Given the description of an element on the screen output the (x, y) to click on. 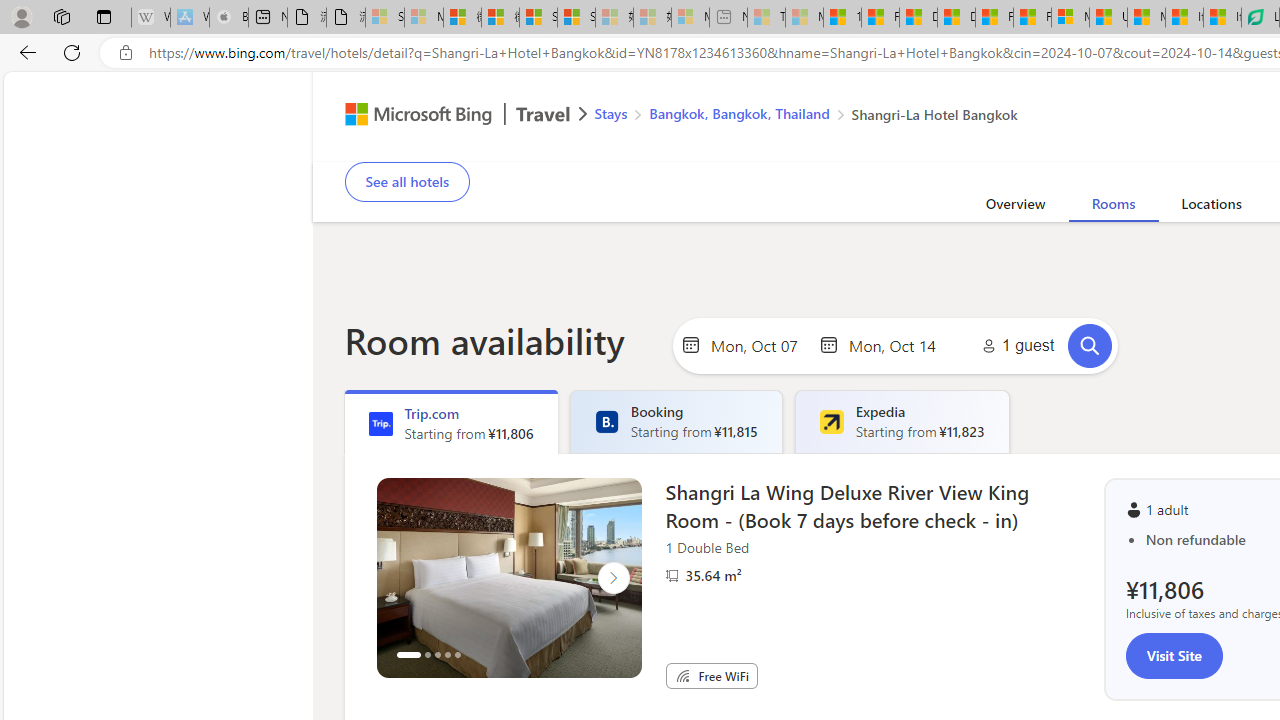
Drinking tea every day is proven to delay biological aging (956, 17)
Locations (1211, 207)
See all hotels (406, 182)
Microsoft account | Account Checkup - Sleeping (690, 17)
Top Stories - MSN - Sleeping (765, 17)
AutomationID: bread-crumb-root (793, 116)
Class: msft-travel-logo (543, 114)
Marine life - MSN - Sleeping (804, 17)
Microsoft Services Agreement - Sleeping (423, 17)
